Given the description of an element on the screen output the (x, y) to click on. 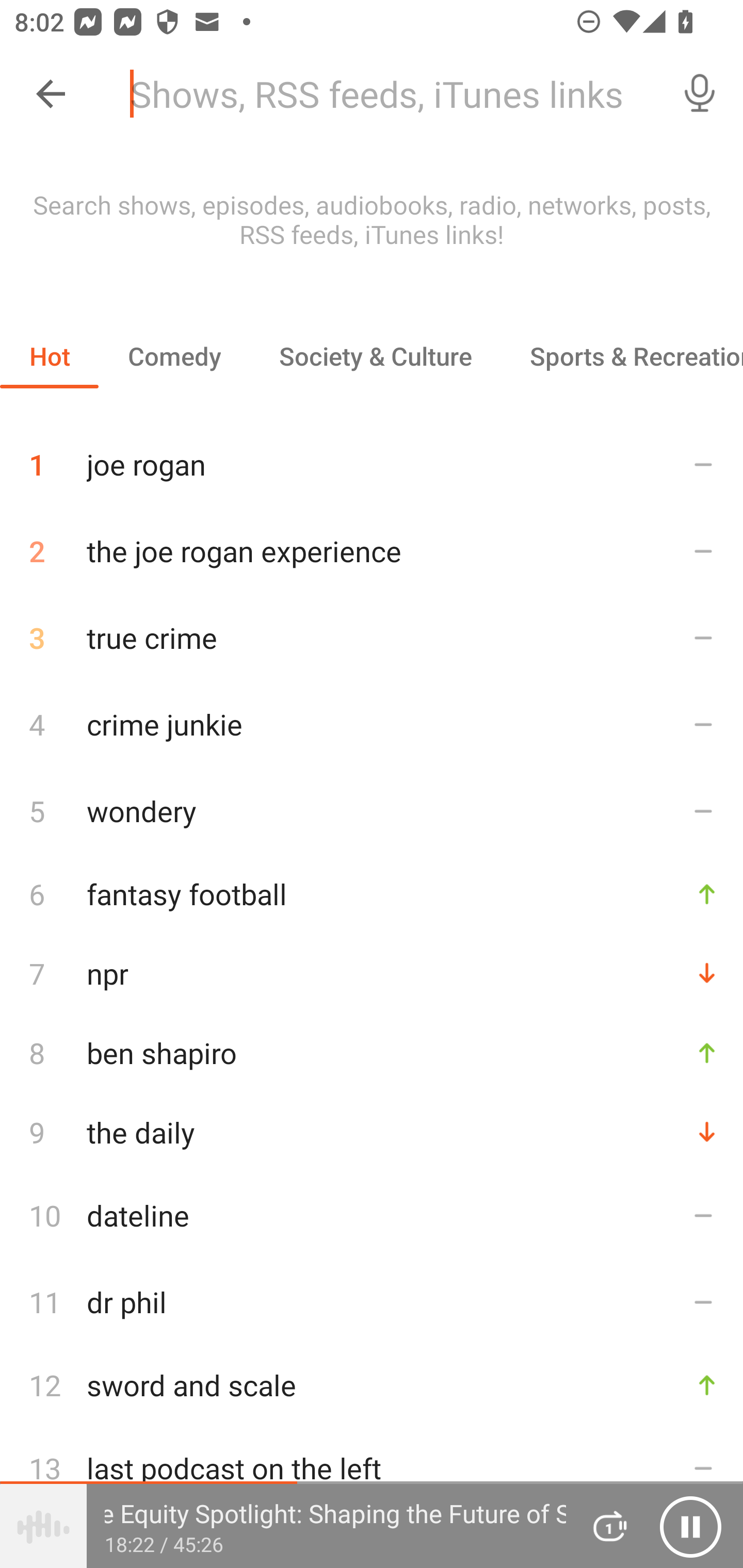
Collapse (50, 93)
Voice Search (699, 93)
Shows, RSS feeds, iTunes links (385, 94)
Hot (49, 355)
Comedy (173, 355)
Society & Culture (374, 355)
Sports & Recreation (621, 355)
1 joe rogan (371, 457)
2 the joe rogan experience (371, 551)
3 true crime (371, 637)
4 crime junkie (371, 723)
5 wondery (371, 810)
6 fantasy football (371, 893)
7 npr (371, 972)
8 ben shapiro (371, 1052)
9 the daily (371, 1131)
10 dateline (371, 1215)
11 dr phil (371, 1302)
12 sword and scale (371, 1385)
13 last podcast on the left (371, 1468)
Pause (690, 1526)
